Given the description of an element on the screen output the (x, y) to click on. 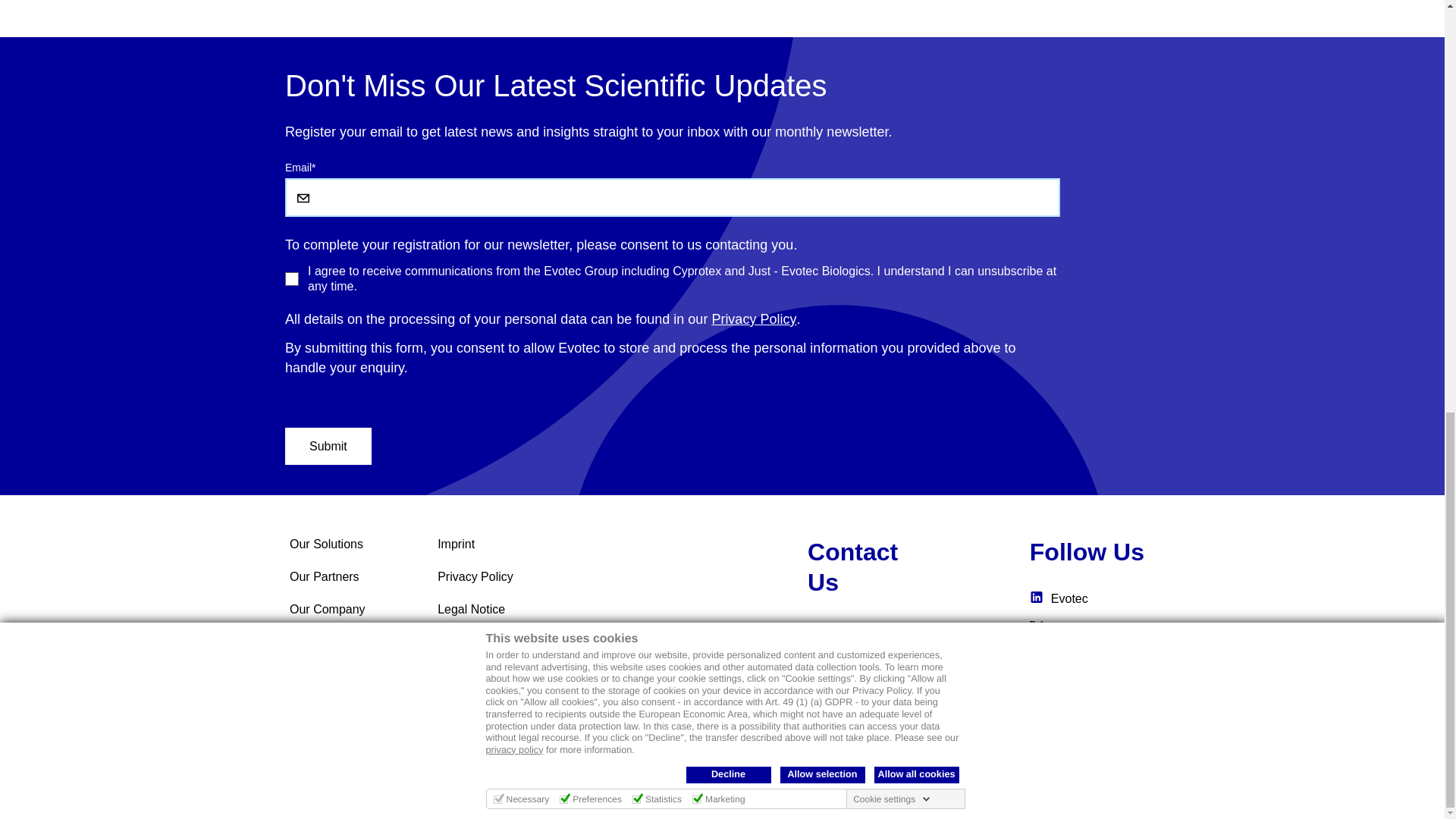
Submit (328, 446)
